Given the description of an element on the screen output the (x, y) to click on. 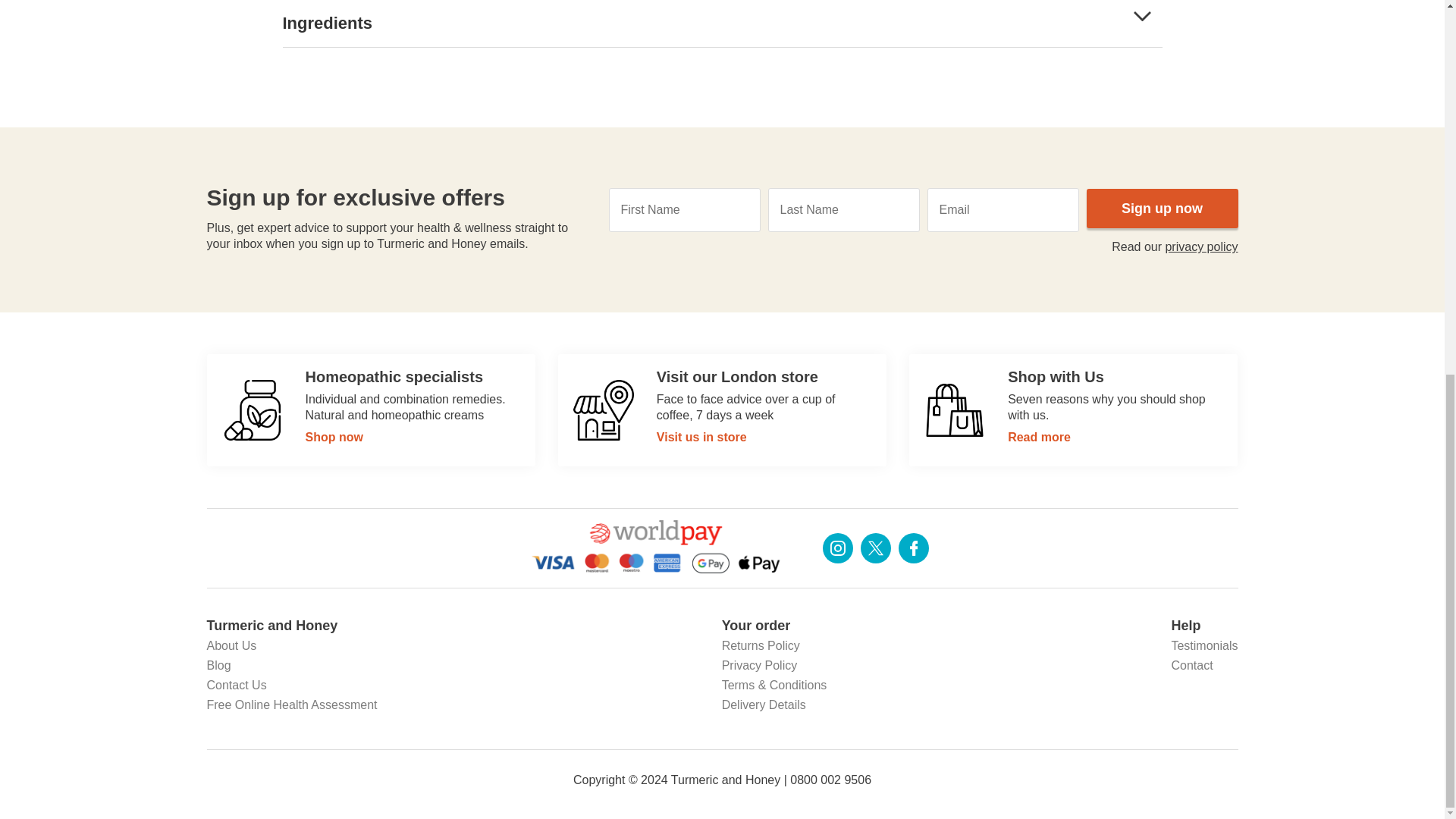
Shop now (721, 409)
Shop now (1072, 409)
Shop now (370, 409)
Homeopathic specialists (603, 410)
Homeopathic specialists (251, 410)
Homeopathic specialists (954, 410)
Sign up now (1161, 209)
